Given the description of an element on the screen output the (x, y) to click on. 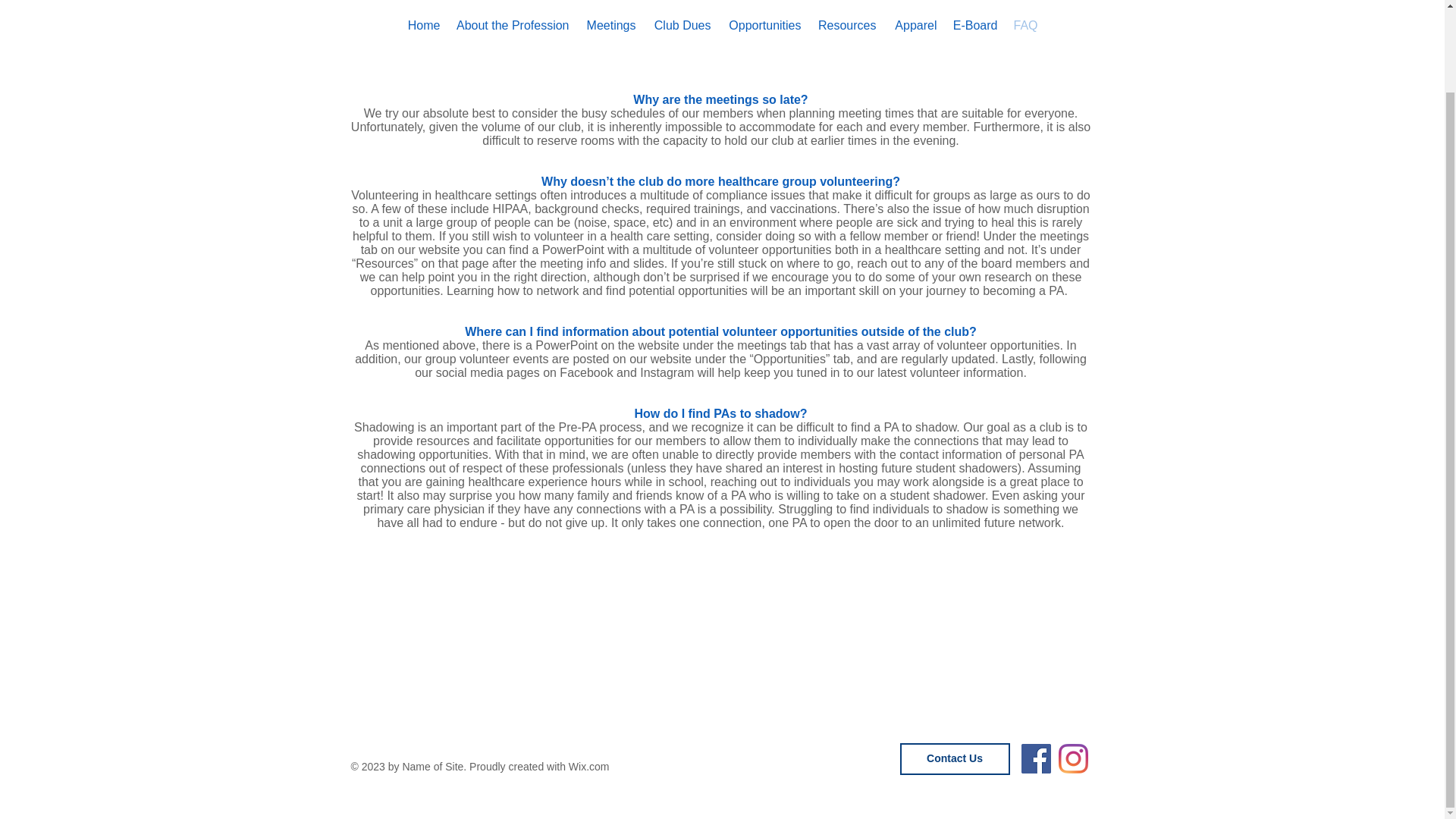
Meetings (609, 25)
Contact Us (954, 758)
Opportunities (764, 25)
E-Board (975, 25)
About the Profession (511, 25)
FAQ (1025, 25)
Wix.com (589, 766)
Home (423, 25)
Club Dues (680, 25)
Resources (845, 25)
Apparel (913, 25)
